Given the description of an element on the screen output the (x, y) to click on. 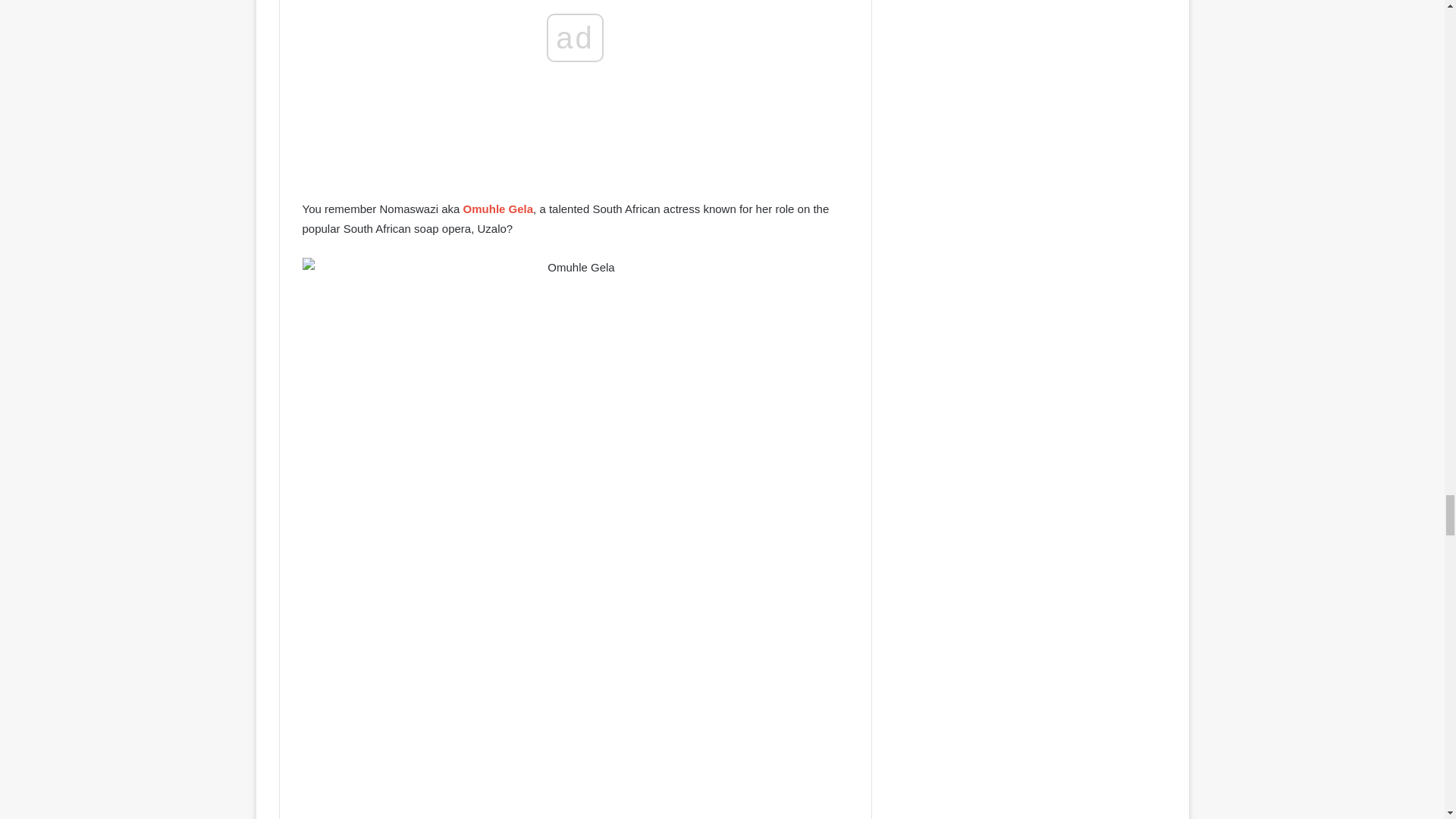
Omuhle Gela (498, 208)
